Given the description of an element on the screen output the (x, y) to click on. 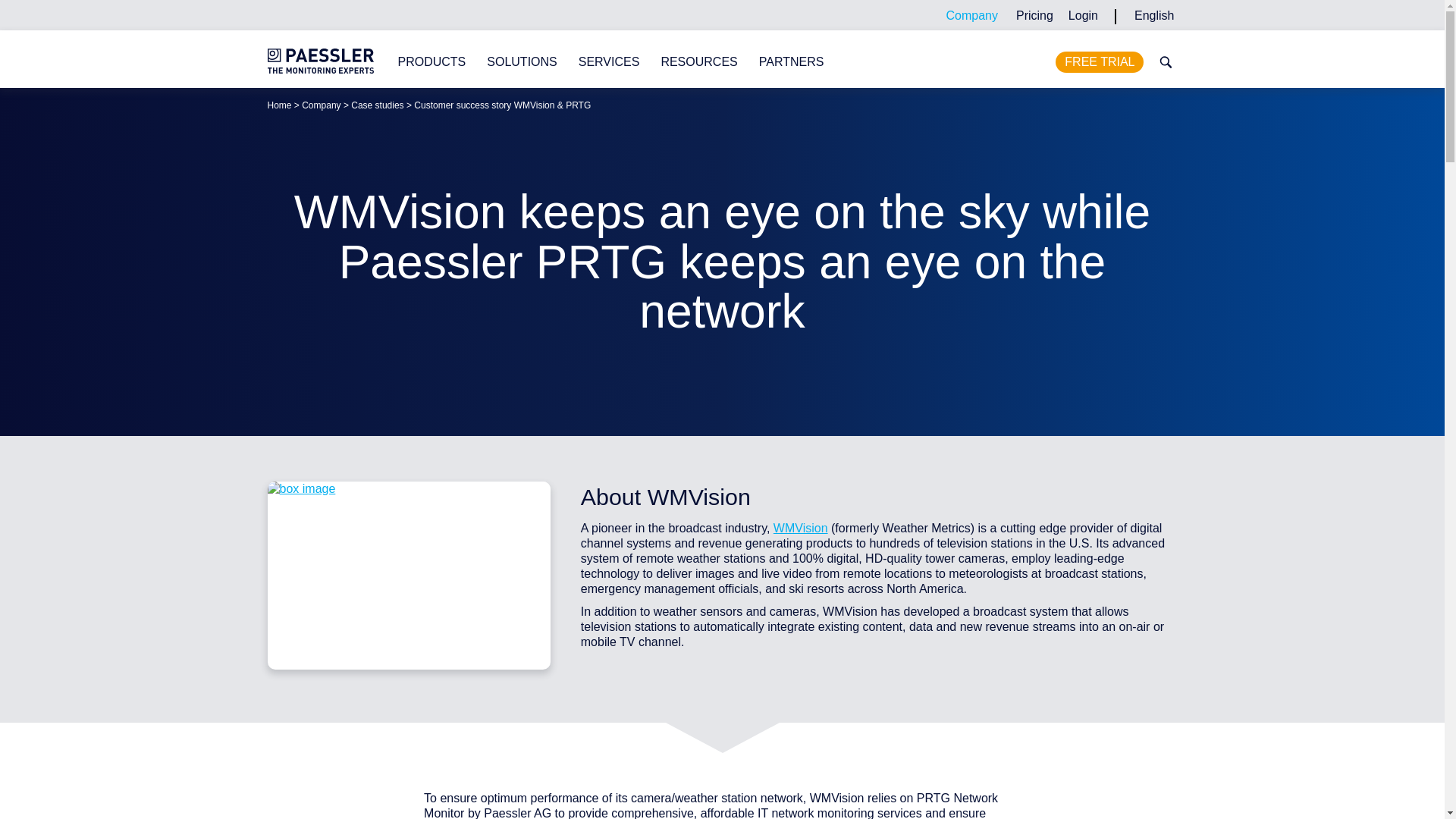
Pricing (1035, 15)
Login (1082, 15)
English (1153, 15)
Company (971, 15)
Paessler - The Monitoring Experts (278, 104)
Download PRTG Network Monitor trial edition (1098, 61)
PRODUCTS (431, 62)
SOLUTIONS (521, 62)
Customer success stories (376, 104)
Paessler Company Information (320, 104)
